Given the description of an element on the screen output the (x, y) to click on. 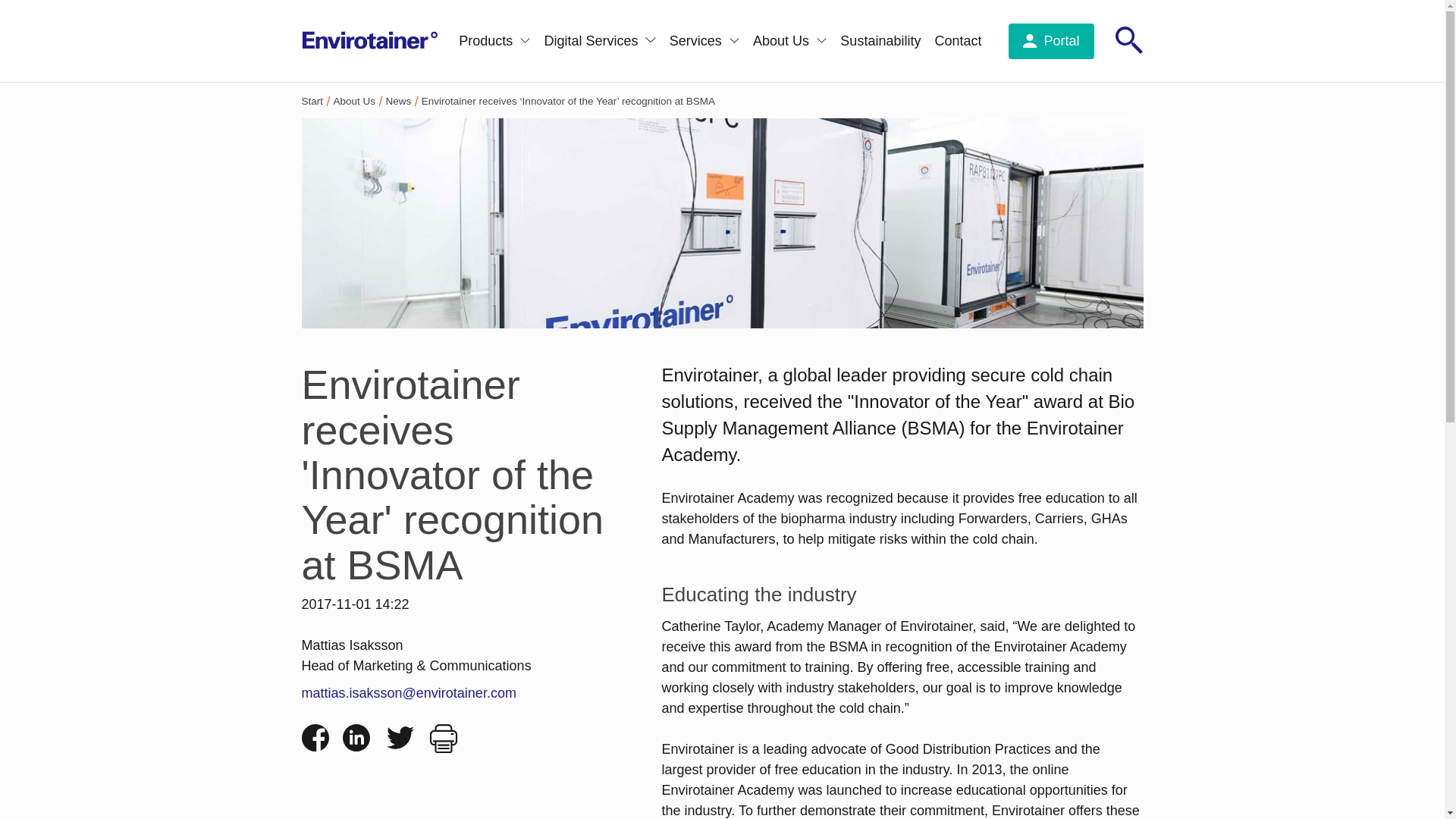
Share on Facebook (315, 737)
About Us (789, 39)
Products (493, 39)
Share on Twitter (394, 741)
Digital Services (599, 39)
Print this page (438, 741)
Services (704, 39)
Share on LinkedIn (350, 741)
